Given the description of an element on the screen output the (x, y) to click on. 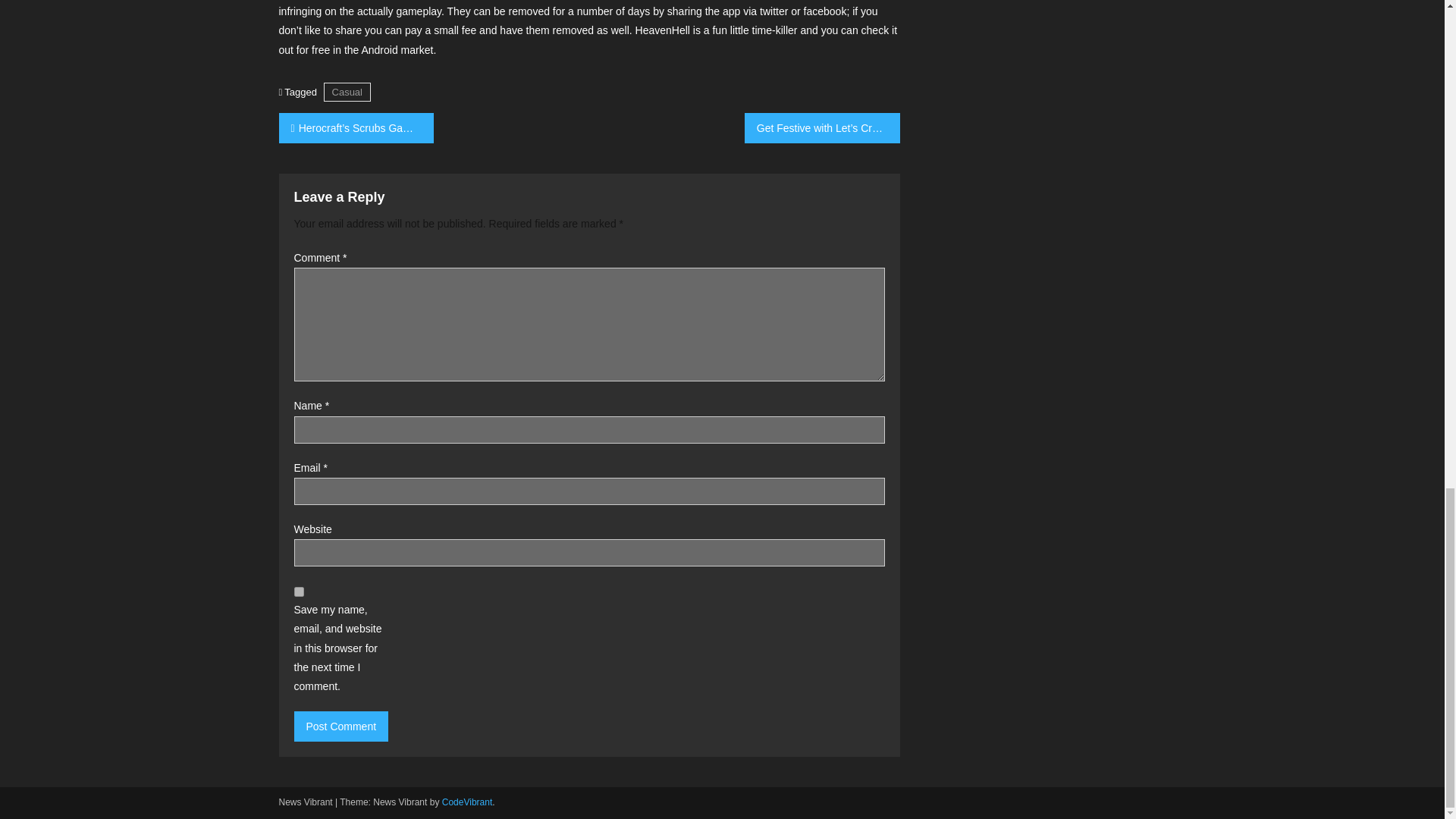
CodeVibrant (467, 801)
yes (299, 592)
Post Comment (341, 726)
Casual (347, 91)
Post Comment (341, 726)
